Given the description of an element on the screen output the (x, y) to click on. 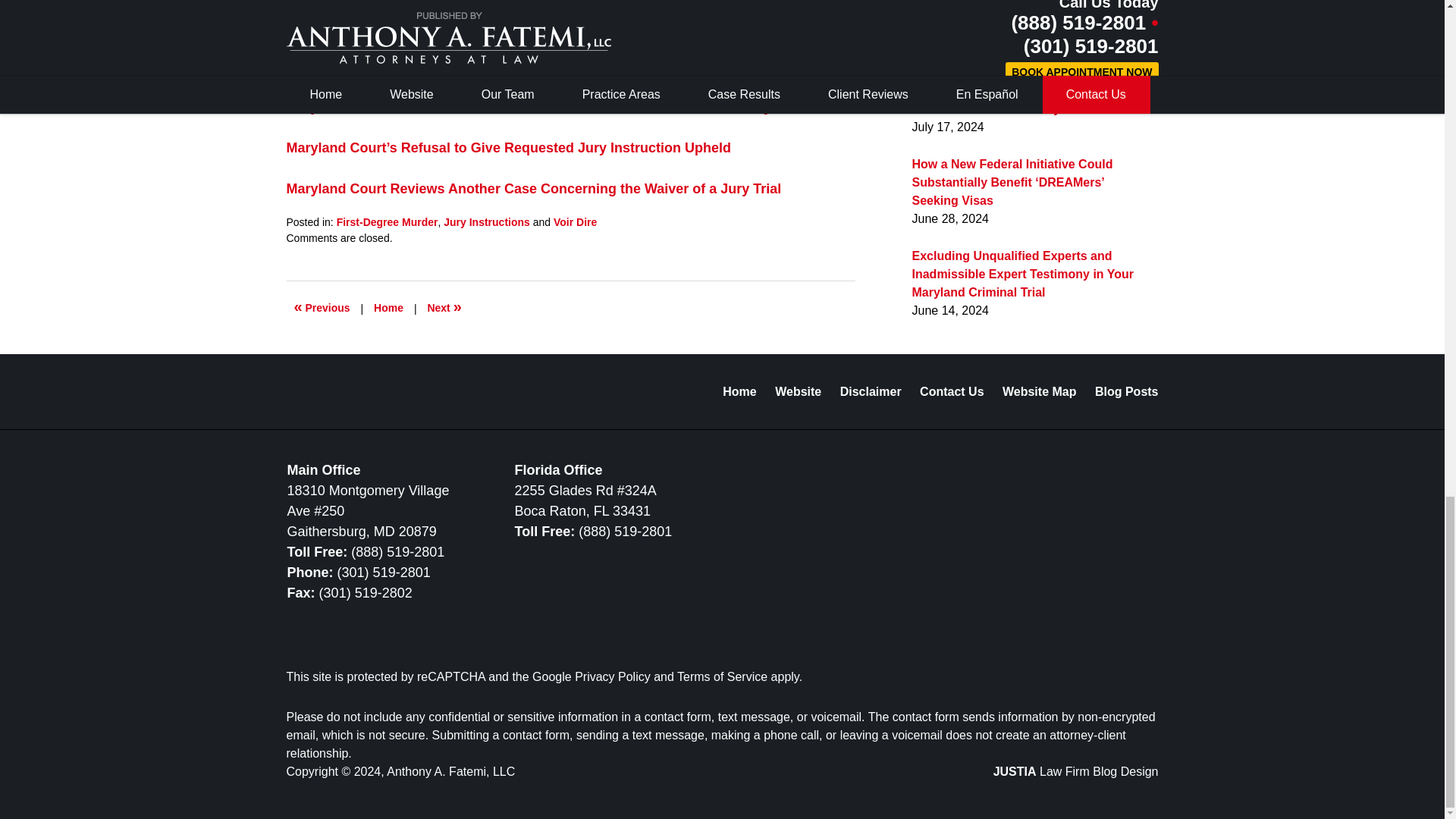
View all posts in Jury Instructions (486, 222)
First-Degree Murder (387, 222)
Jury Instructions (486, 222)
Home (388, 308)
View all posts in First-Degree Murder (387, 222)
View all posts in Voir Dire (574, 222)
Voir Dire (574, 222)
